Given the description of an element on the screen output the (x, y) to click on. 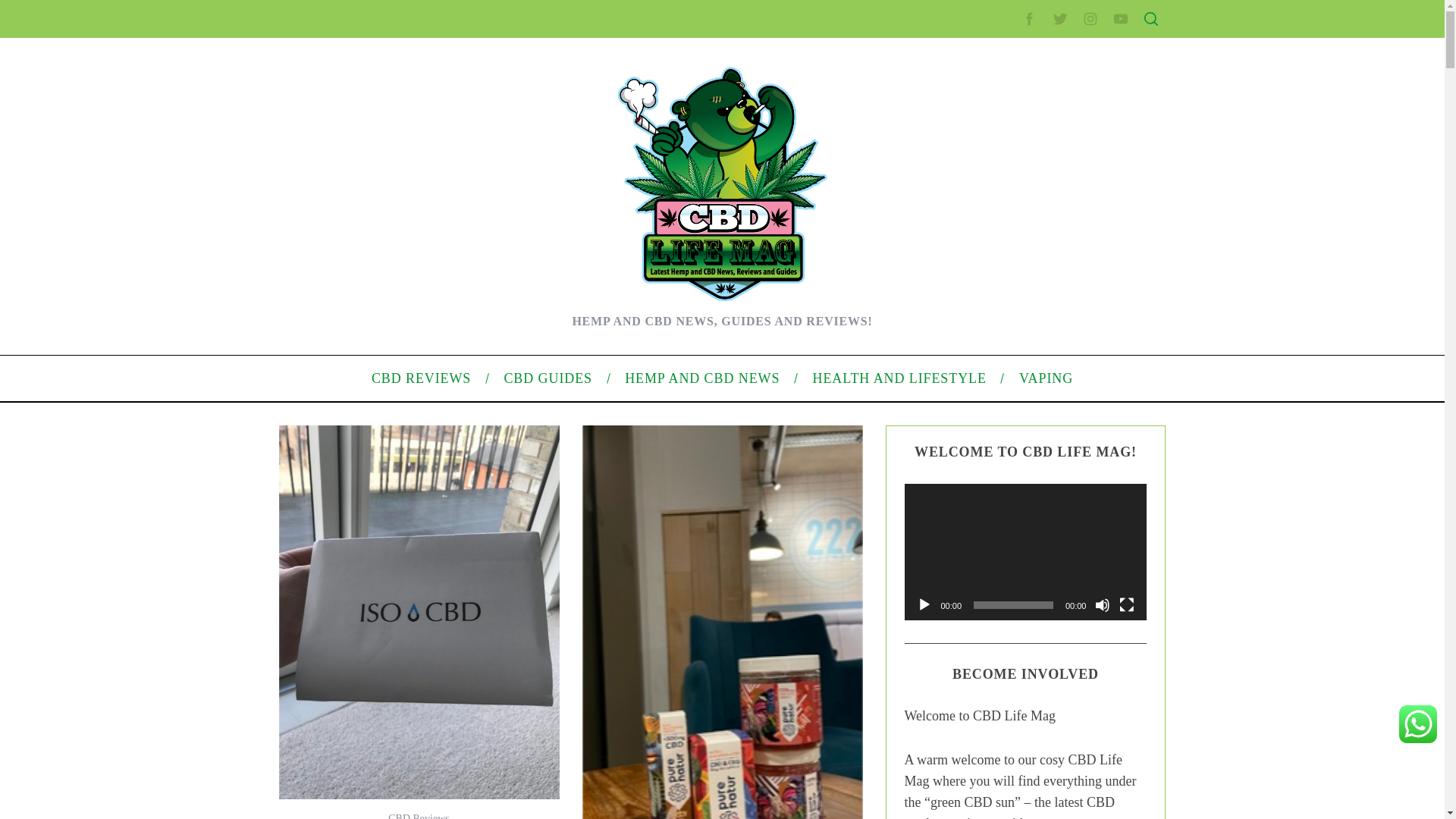
Blog (976, 510)
Am Joy (339, 514)
Joy Online (346, 467)
The Dark Yorkshire Series: Books 4 To 6 (416, 250)
ADMINISTRATOR (417, 81)
Privacy Policy (999, 306)
Contact Us (991, 258)
Search (1050, 85)
Log in (980, 588)
Customer Reviews (365, 322)
Disclaimer (990, 354)
DMCA Policy (996, 282)
Skip to content (34, 9)
December 2020 (1004, 432)
Search (1050, 85)
